Given the description of an element on the screen output the (x, y) to click on. 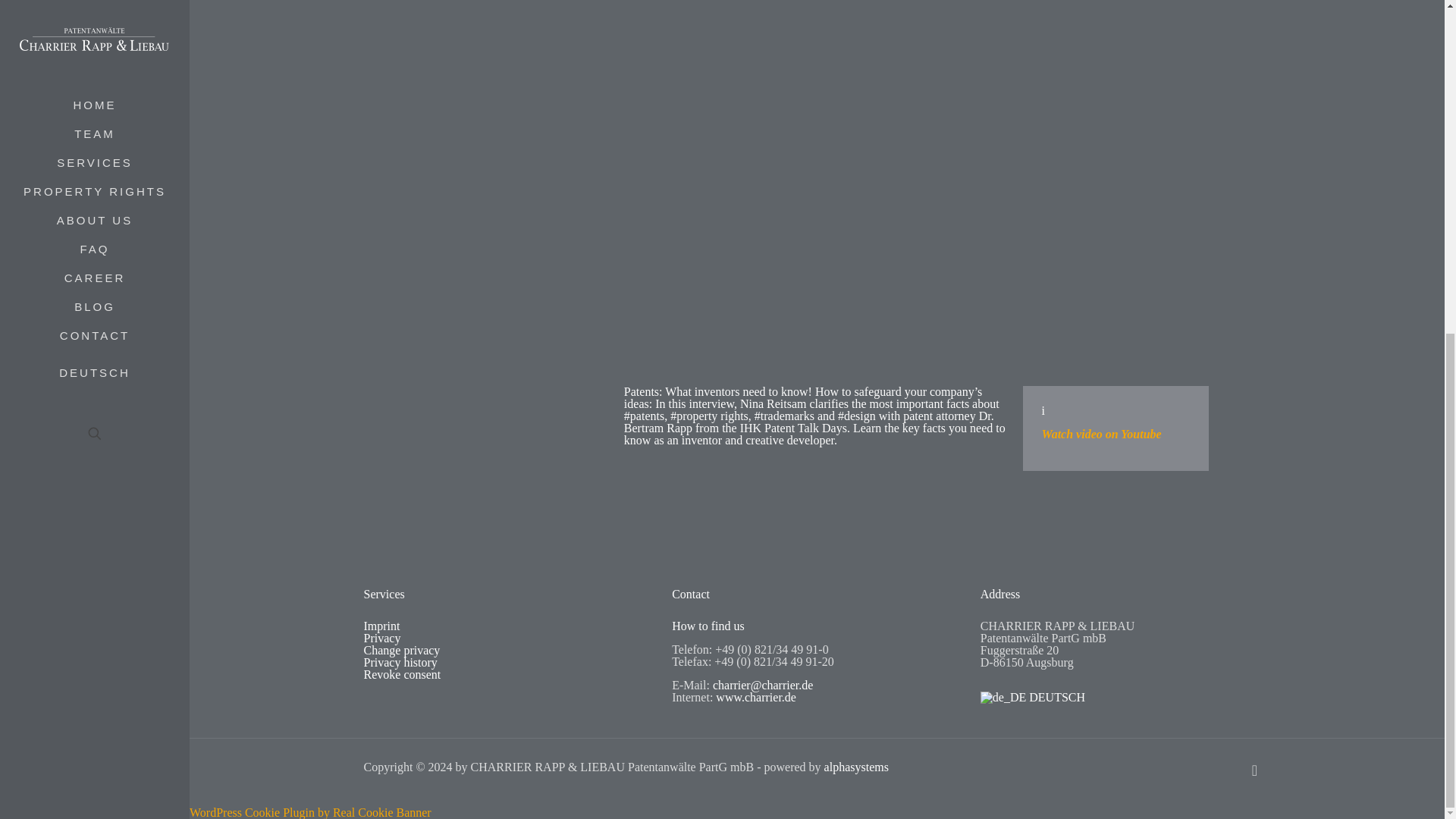
alphasystems (856, 766)
Privacy (382, 637)
www.charrier.de (756, 697)
Revoke consent (402, 674)
Watch video on Youtube (1101, 433)
alphasystems (856, 766)
Imprint (382, 625)
DEUTSCH (1031, 697)
How to find us (707, 625)
DEUTSCH (1031, 697)
Privacy history (401, 662)
Change privacy (402, 649)
